Given the description of an element on the screen output the (x, y) to click on. 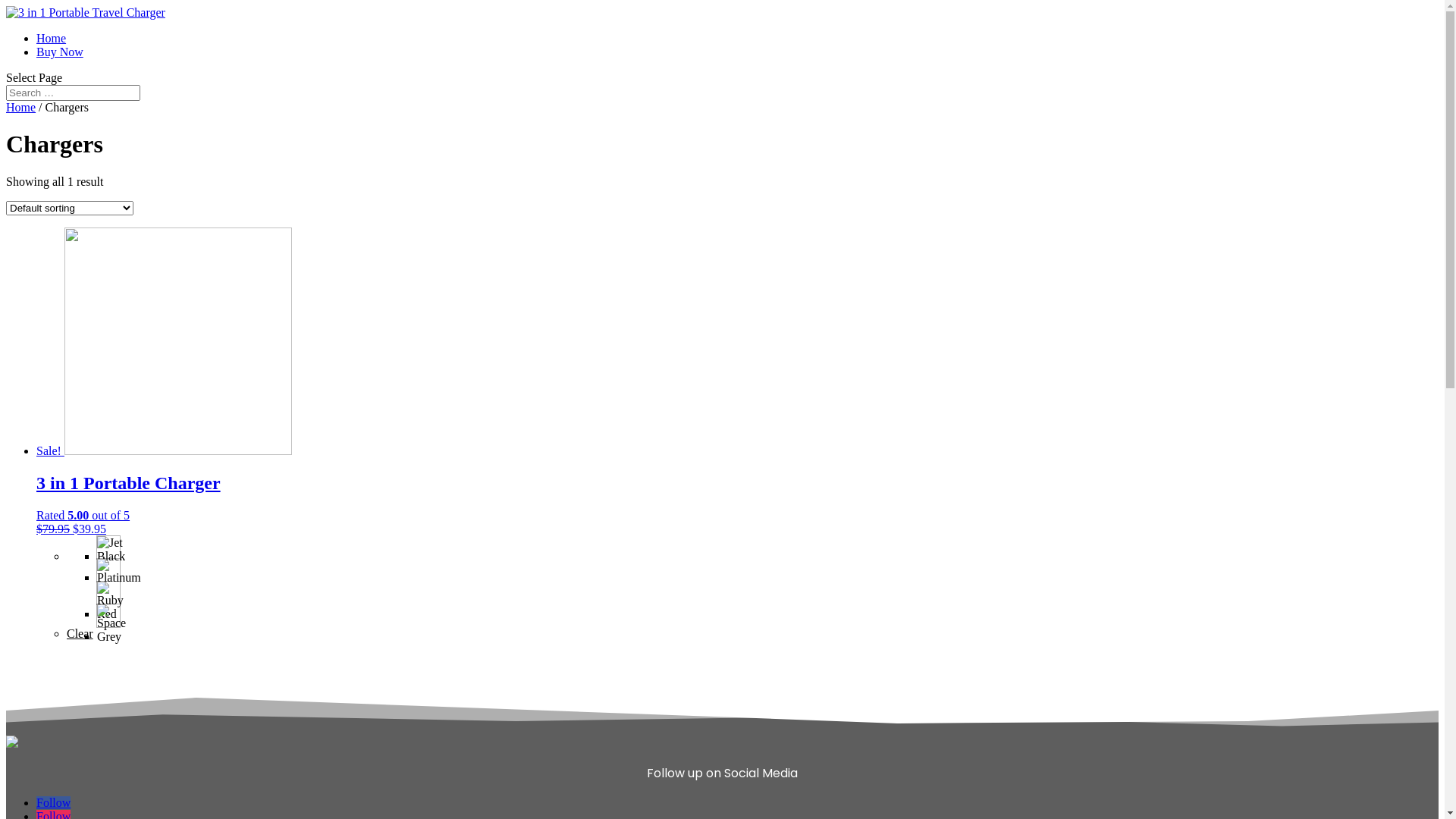
Clear Element type: text (79, 633)
Home Element type: text (50, 37)
Jet Black Element type: hover (108, 547)
Follow Element type: text (53, 802)
Buy Now Element type: text (59, 51)
Search for: Element type: hover (73, 92)
Ruby Red Element type: hover (108, 592)
Home Element type: text (20, 106)
Platinum Element type: hover (108, 569)
Space Grey Element type: hover (108, 615)
